Given the description of an element on the screen output the (x, y) to click on. 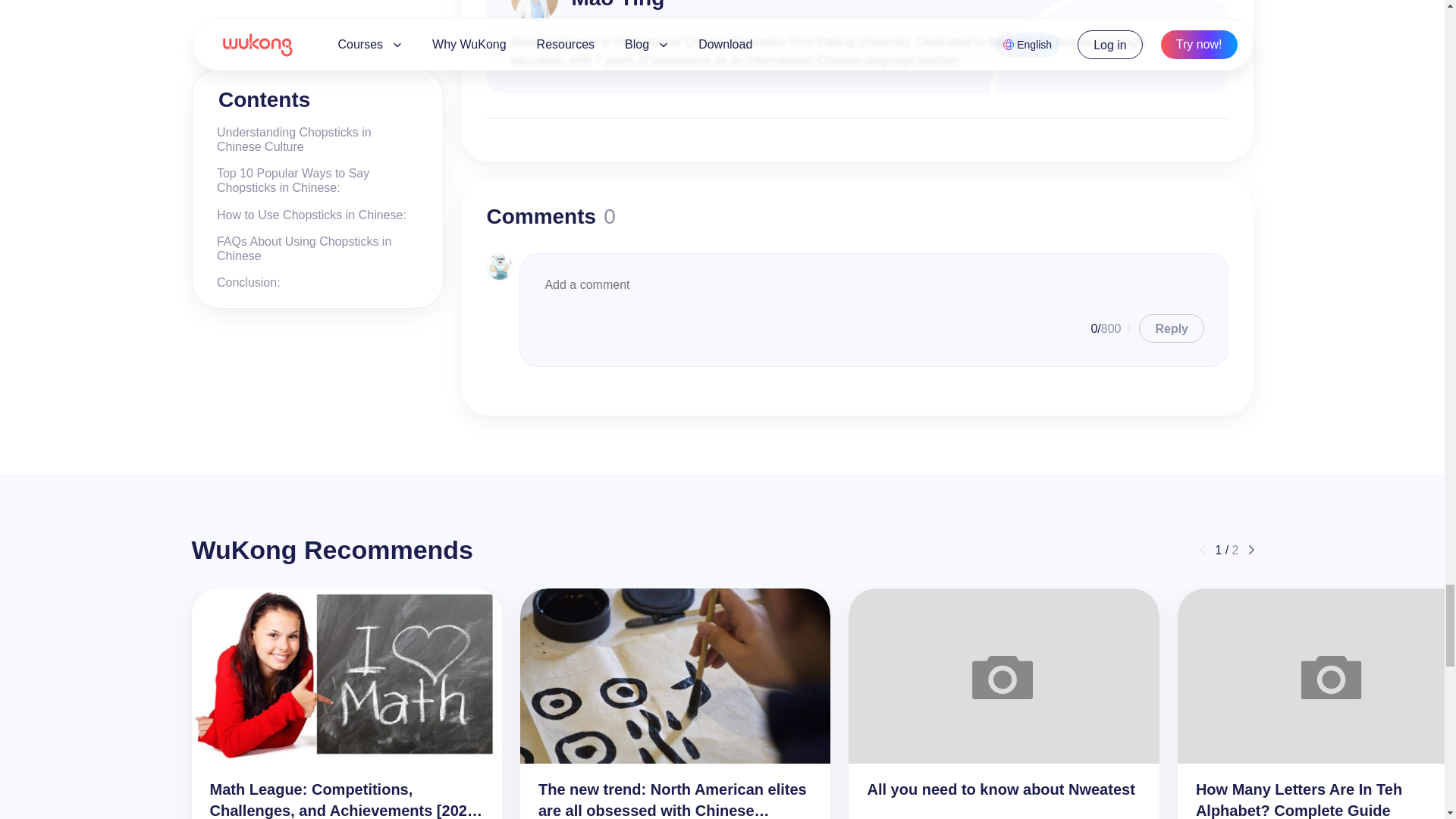
All you need to know about Nweatest (1003, 675)
All you need to know about Nweatest (1003, 789)
